Given the description of an element on the screen output the (x, y) to click on. 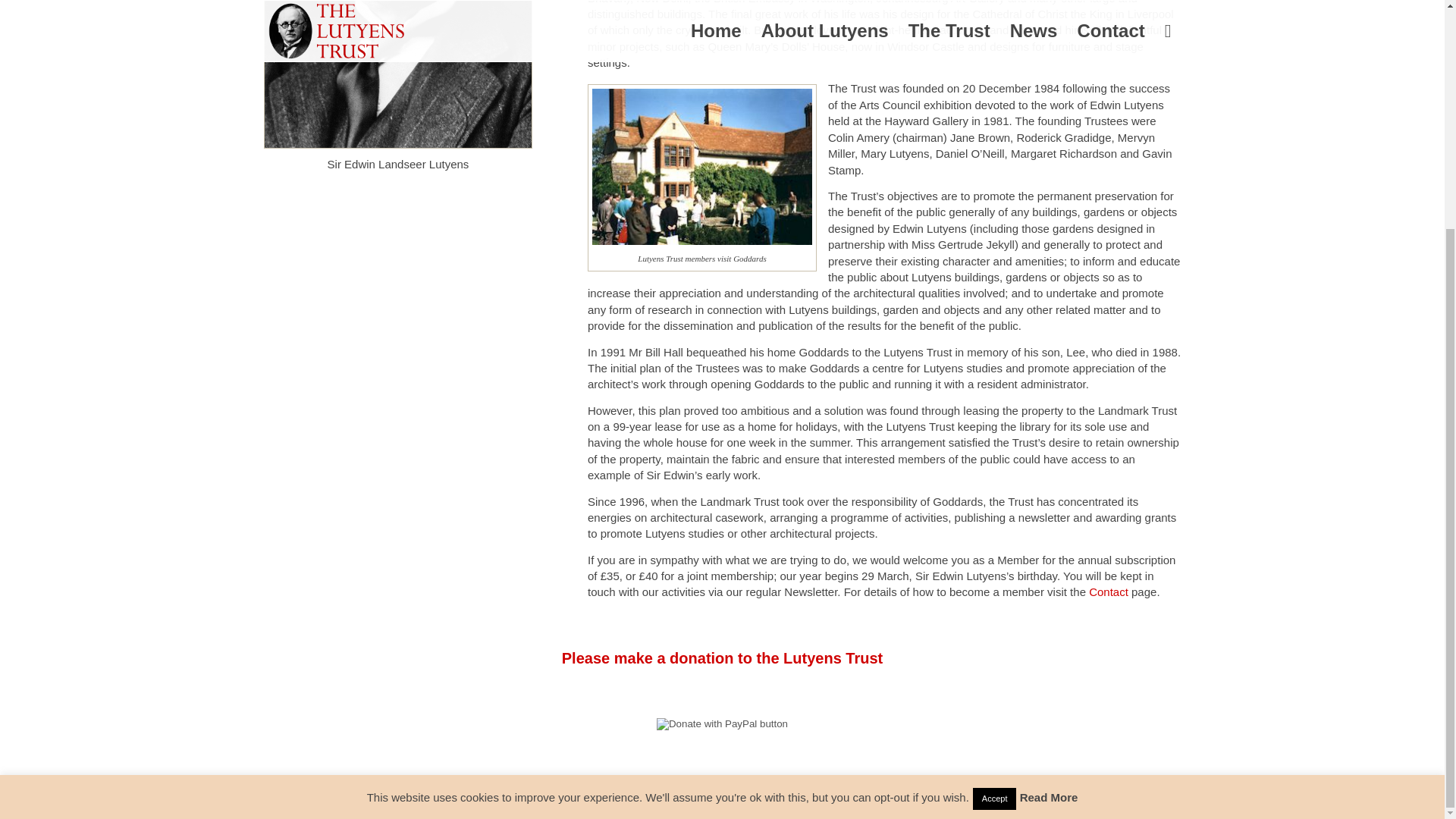
Contact (1108, 591)
Terms and Conditions (685, 793)
Registered Charity No. 326776 (542, 793)
Lutyens (397, 74)
Read More (1049, 488)
Find us on Facebook (929, 793)
PayPal - The safer, easier way to pay online! (721, 724)
Accept (994, 490)
Find us on Twitter (804, 793)
Contact (1108, 591)
